Given the description of an element on the screen output the (x, y) to click on. 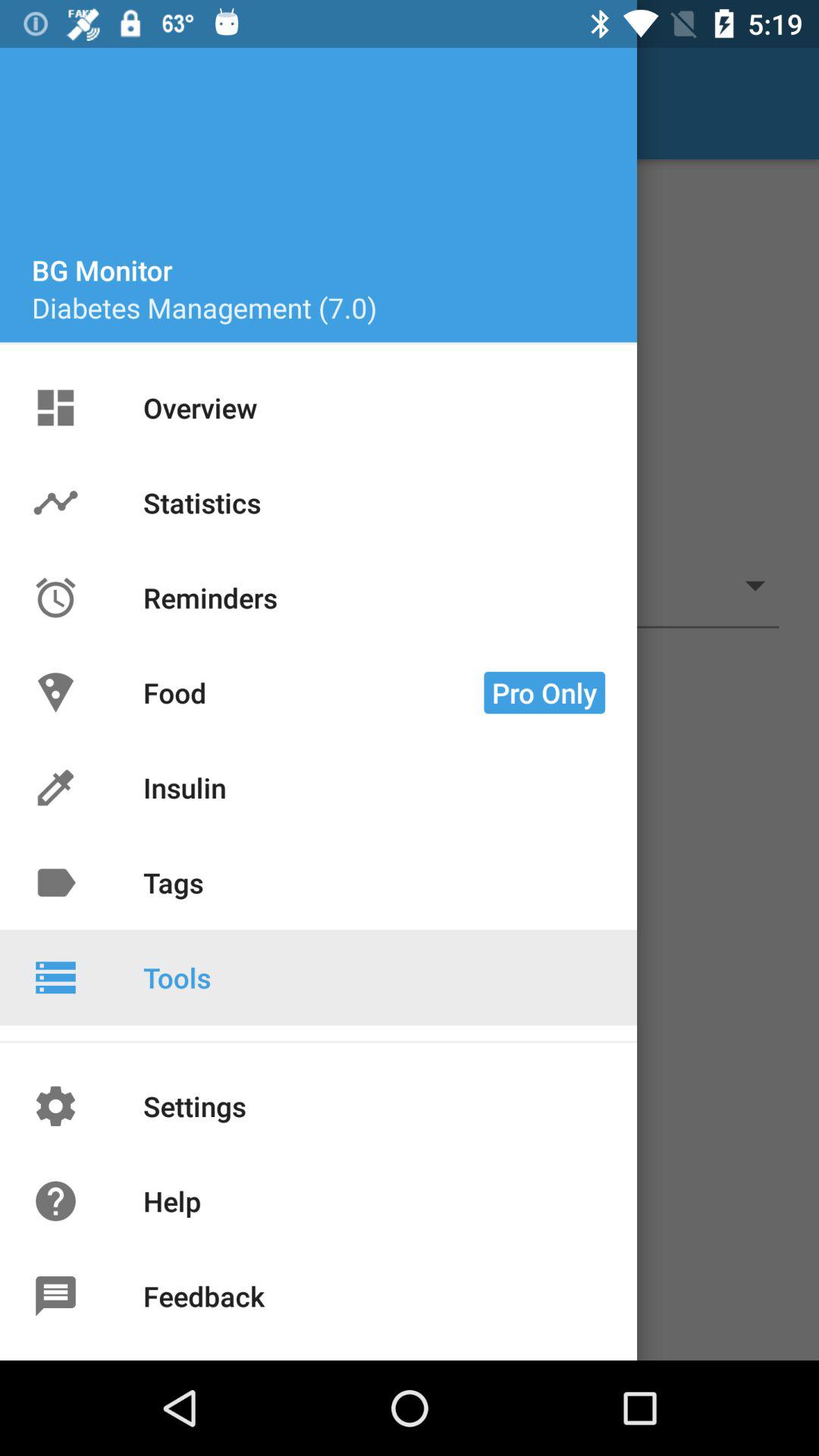
click reminders (216, 594)
